Given the description of an element on the screen output the (x, y) to click on. 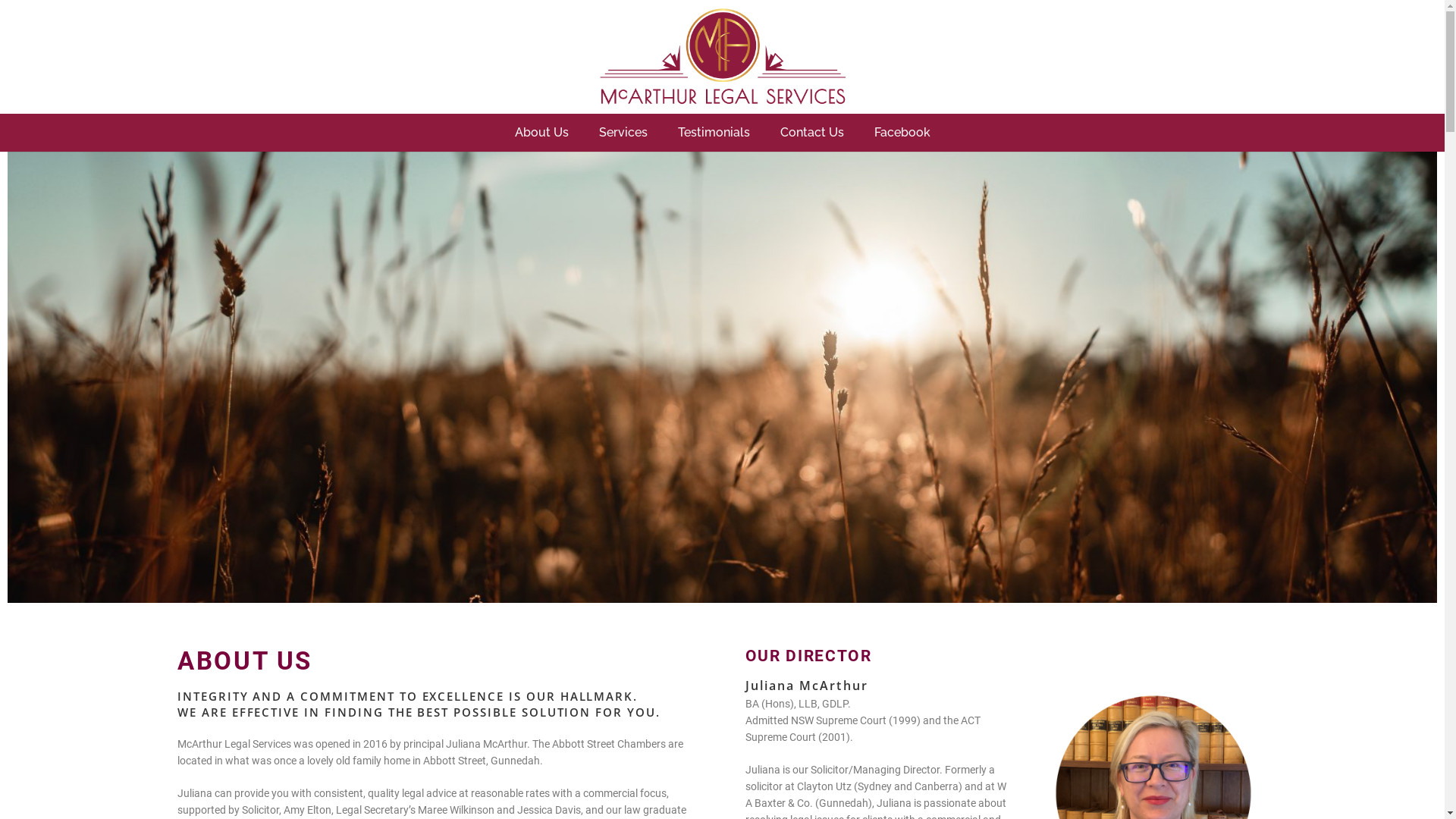
Services Element type: text (622, 132)
Facebook Element type: text (901, 132)
Contact Us Element type: text (811, 132)
About Us Element type: text (540, 132)
Testimonials Element type: text (713, 132)
McAfthur Legal Services Element type: hover (722, 304)
